Given the description of an element on the screen output the (x, y) to click on. 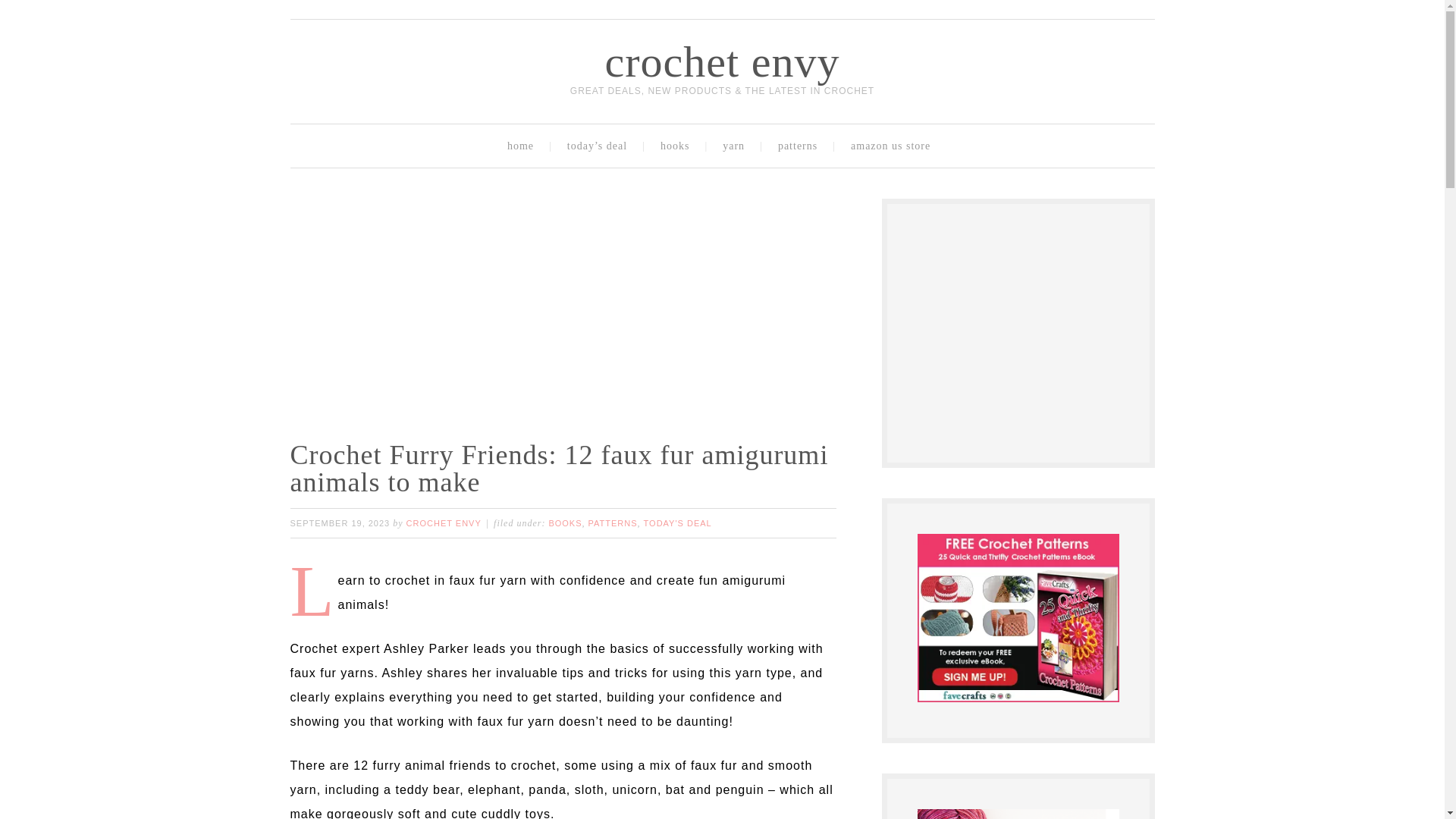
hooks (678, 145)
CROCHET ENVY (443, 522)
Crochet Furry Friends: 12 faux fur amigurumi animals to make (558, 468)
Advertisement (569, 305)
PATTERNS (612, 522)
BOOKS (564, 522)
TODAY'S DEAL (677, 522)
yarn (736, 145)
amazon us store (894, 145)
crochet envy (722, 61)
